Given the description of an element on the screen output the (x, y) to click on. 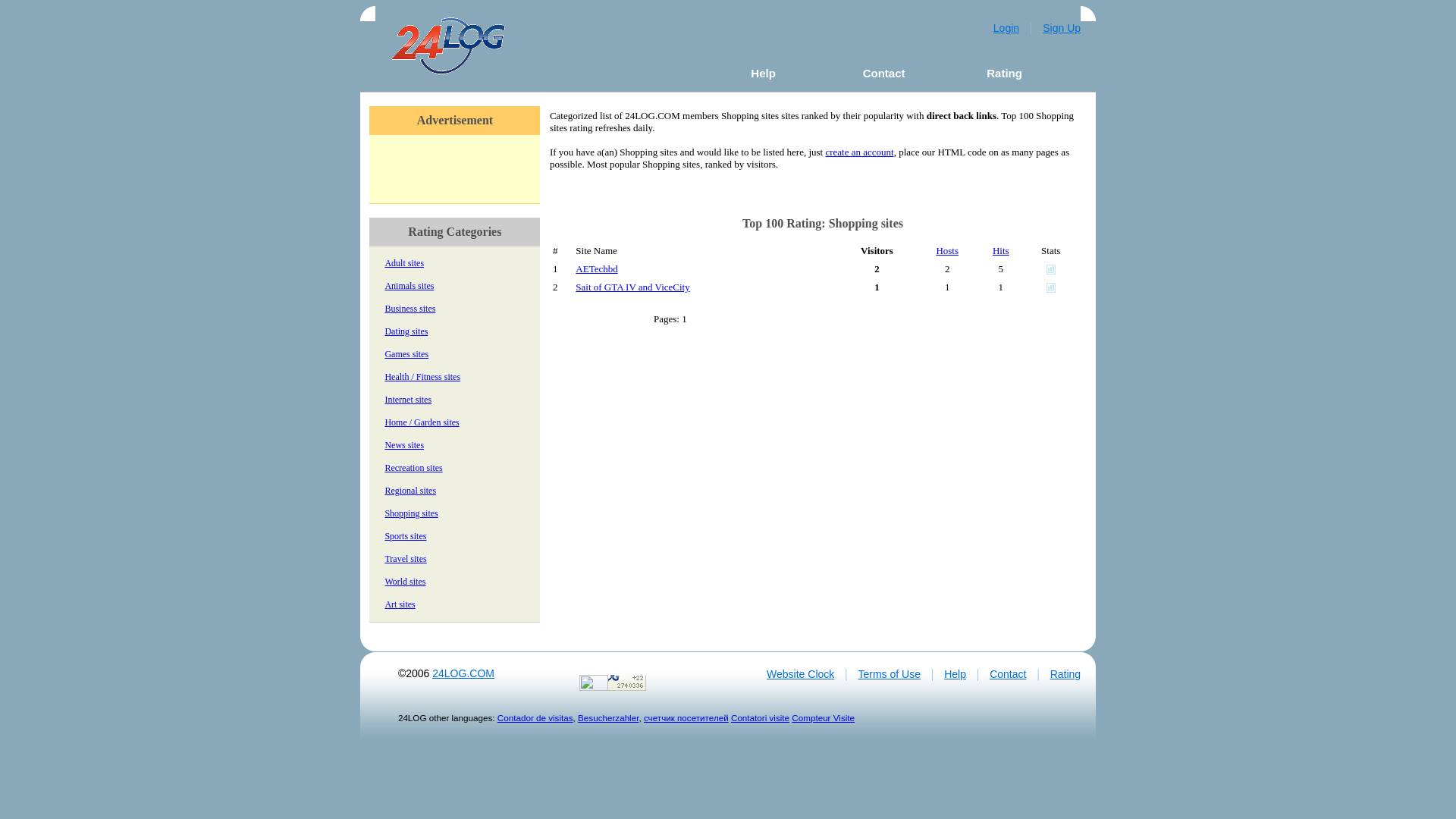
Travel sites Element type: text (405, 558)
Terms of Use Element type: text (889, 674)
Contador de visitas Element type: text (535, 717)
World sites Element type: text (404, 581)
Business sites Element type: text (409, 308)
Help Element type: text (955, 674)
Adult sites Element type: text (403, 262)
Hits Element type: text (1000, 250)
Rating Element type: text (1004, 72)
Sign Up Element type: text (1061, 27)
Compteur Visite Element type: text (822, 717)
Shopping sites Element type: text (410, 513)
Regional sites Element type: text (410, 490)
24LOG.COM Element type: text (463, 673)
Login Element type: text (1006, 27)
Contact Element type: text (1007, 674)
Help Element type: text (763, 72)
Sait of GTA IV and ViceCity Element type: text (632, 286)
AETechbd Element type: text (596, 268)
Recreation sites Element type: text (413, 467)
Website Clock Element type: text (800, 674)
Contatori visite Element type: text (760, 717)
Animals sites Element type: text (408, 285)
Art sites Element type: text (399, 604)
Games sites Element type: text (406, 353)
Dating sites Element type: text (405, 331)
Health / Fitness sites Element type: text (422, 376)
Rating Element type: text (1065, 674)
Besucherzahler Element type: text (607, 717)
create an account Element type: text (859, 151)
Hosts Element type: text (946, 250)
Home / Garden sites Element type: text (421, 422)
Sports sites Element type: text (405, 535)
News sites Element type: text (403, 444)
Internet sites Element type: text (407, 399)
Contact Element type: text (883, 72)
